Given the description of an element on the screen output the (x, y) to click on. 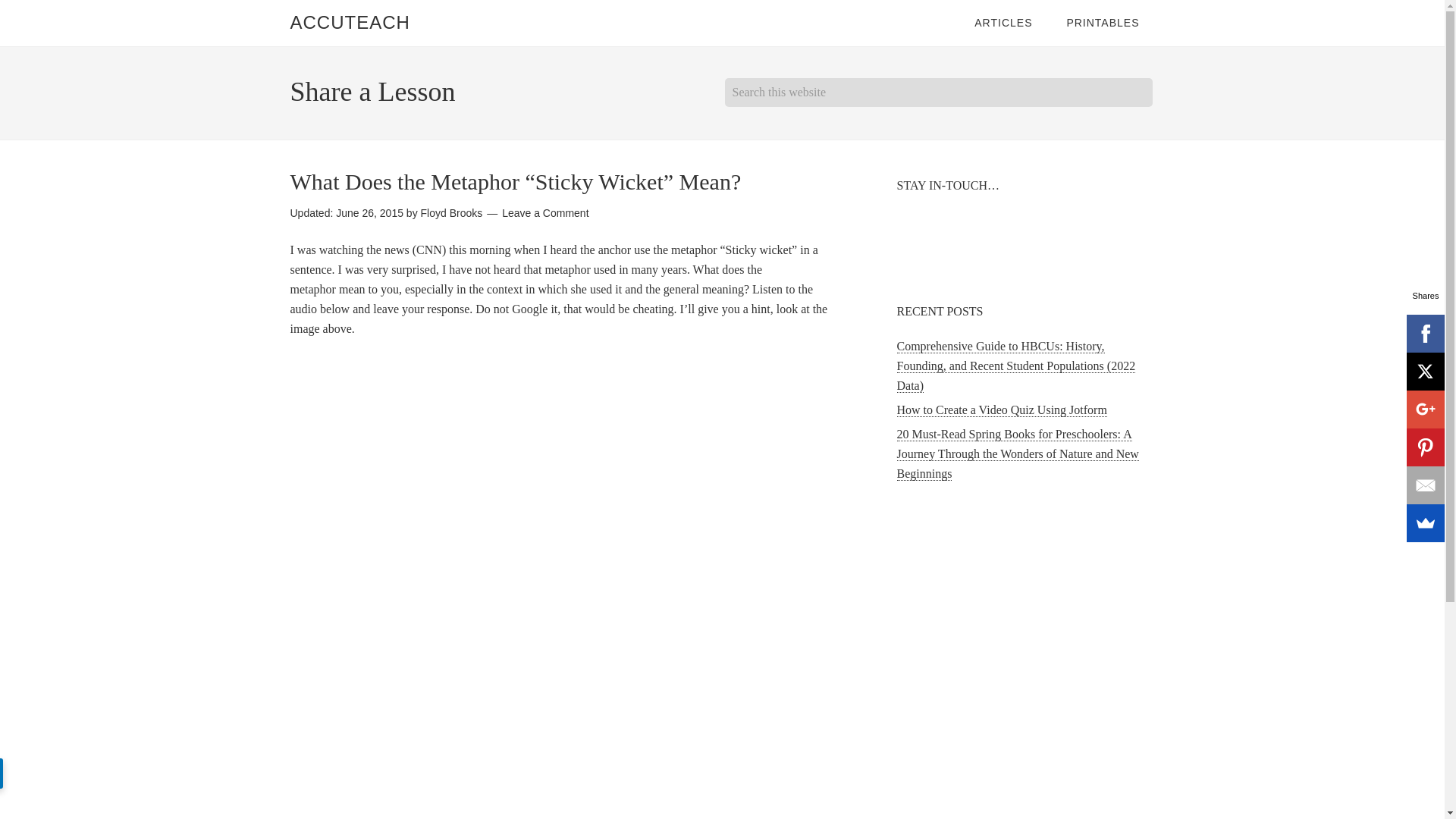
Leave a Comment (545, 213)
ARTICLES (1002, 22)
Advertisement (1025, 620)
How to Create a Video Quiz Using Jotform (1001, 409)
PRINTABLES (1102, 22)
Floyd Brooks (451, 213)
ACCUTEACH (349, 22)
